Given the description of an element on the screen output the (x, y) to click on. 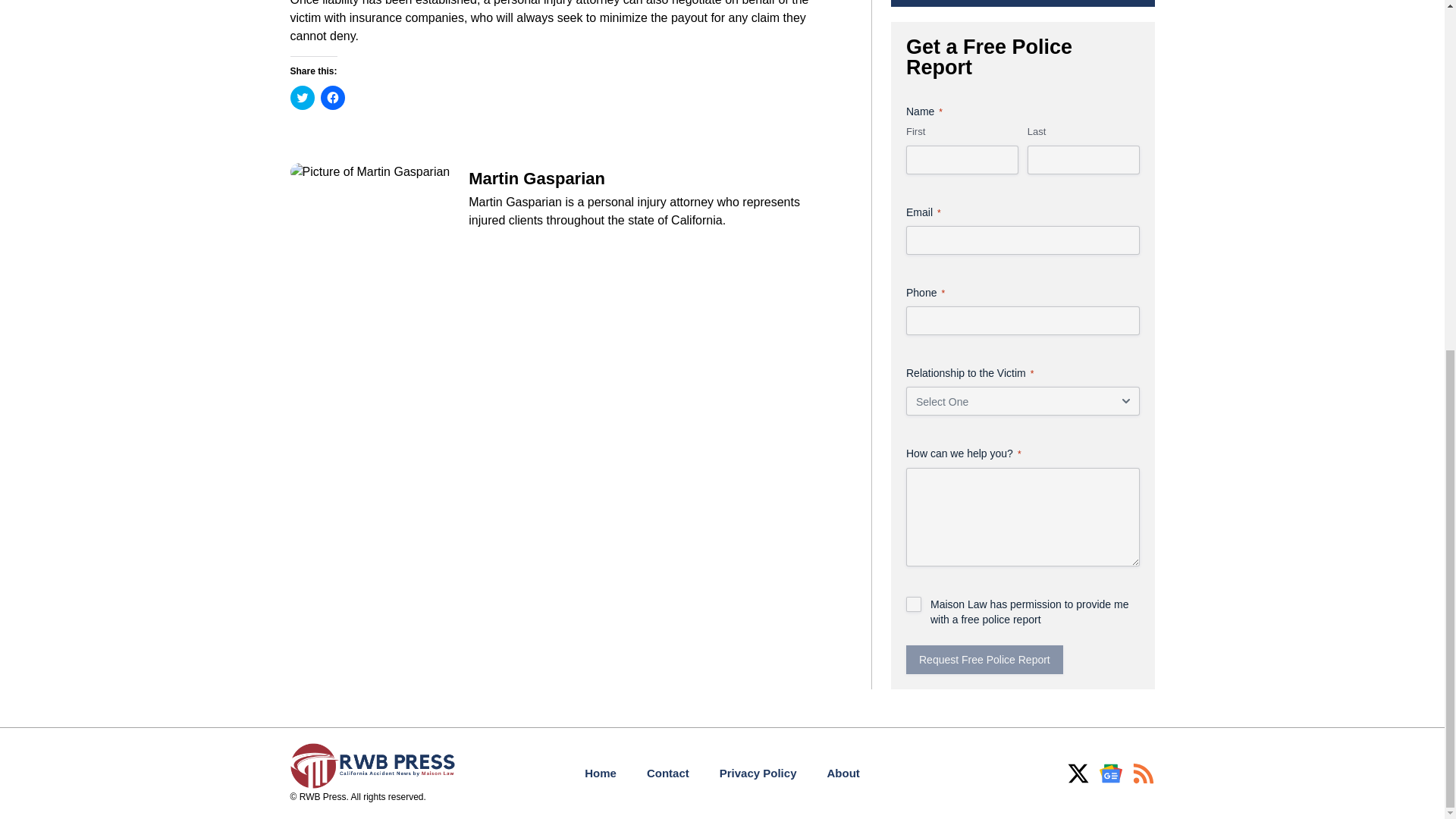
Click to share on Twitter (301, 97)
Click to share on Facebook (331, 97)
Home (600, 773)
Request Free Police Report (983, 659)
Request Free Police Report (983, 659)
